Given the description of an element on the screen output the (x, y) to click on. 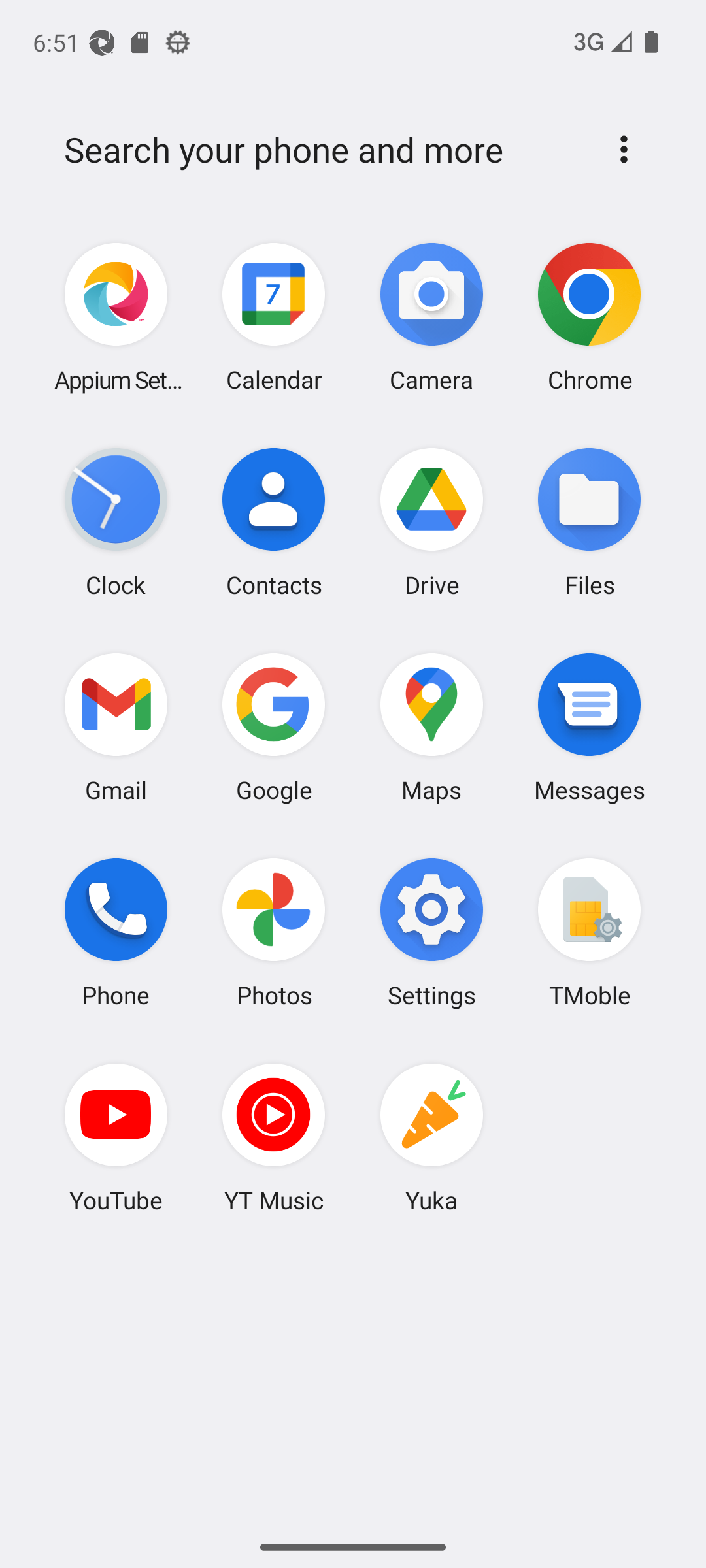
Search your phone and more (321, 149)
Preferences (623, 149)
Appium Settings (115, 317)
Calendar (273, 317)
Camera (431, 317)
Chrome (589, 317)
Clock (115, 522)
Contacts (273, 522)
Drive (431, 522)
Files (589, 522)
Gmail (115, 726)
Google (273, 726)
Maps (431, 726)
Messages (589, 726)
Phone (115, 931)
Photos (273, 931)
Settings (431, 931)
TMoble (589, 931)
YouTube (115, 1137)
YT Music (273, 1137)
Yuka (431, 1137)
